Given the description of an element on the screen output the (x, y) to click on. 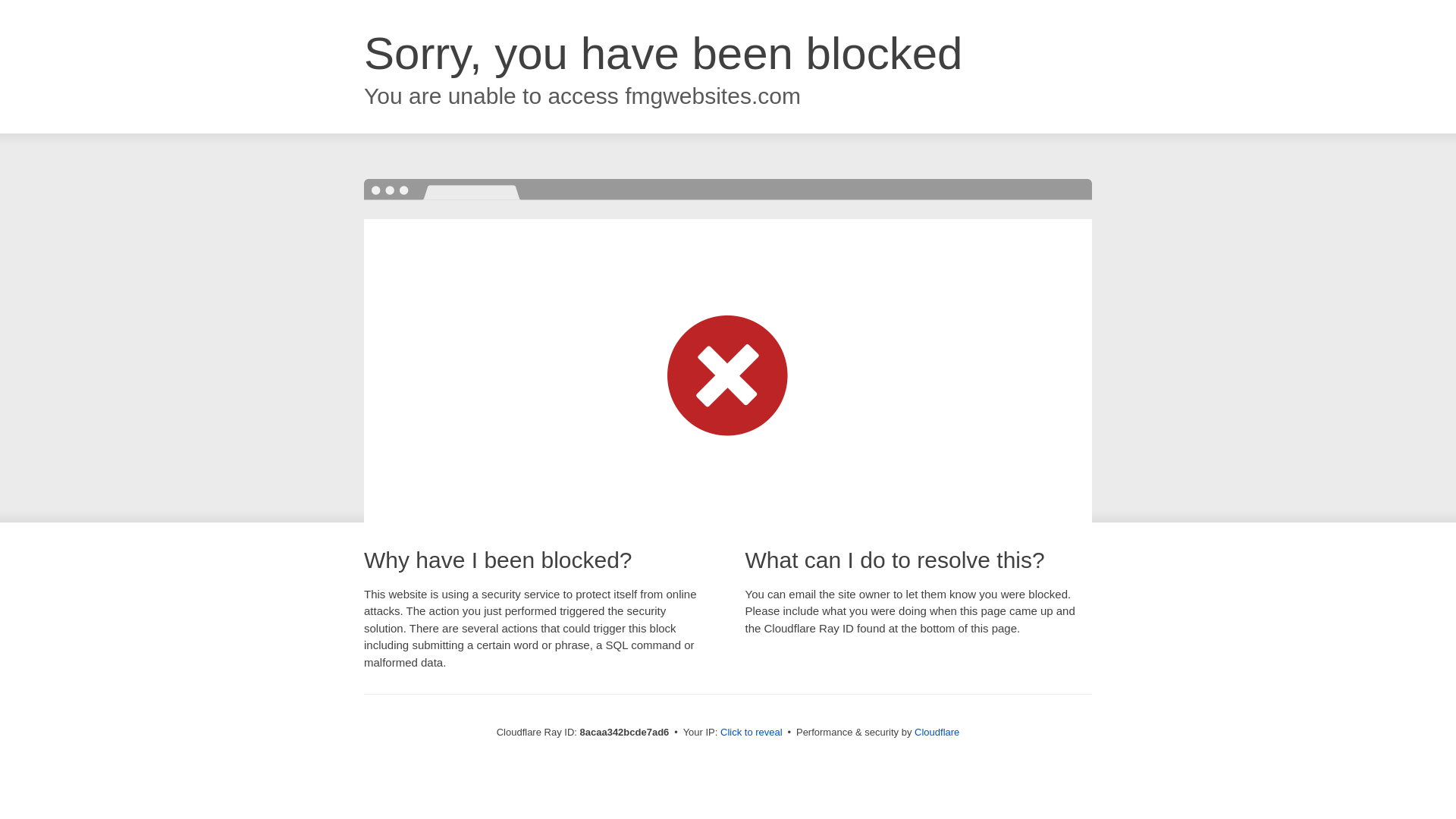
Cloudflare (936, 731)
Click to reveal (751, 732)
